Given the description of an element on the screen output the (x, y) to click on. 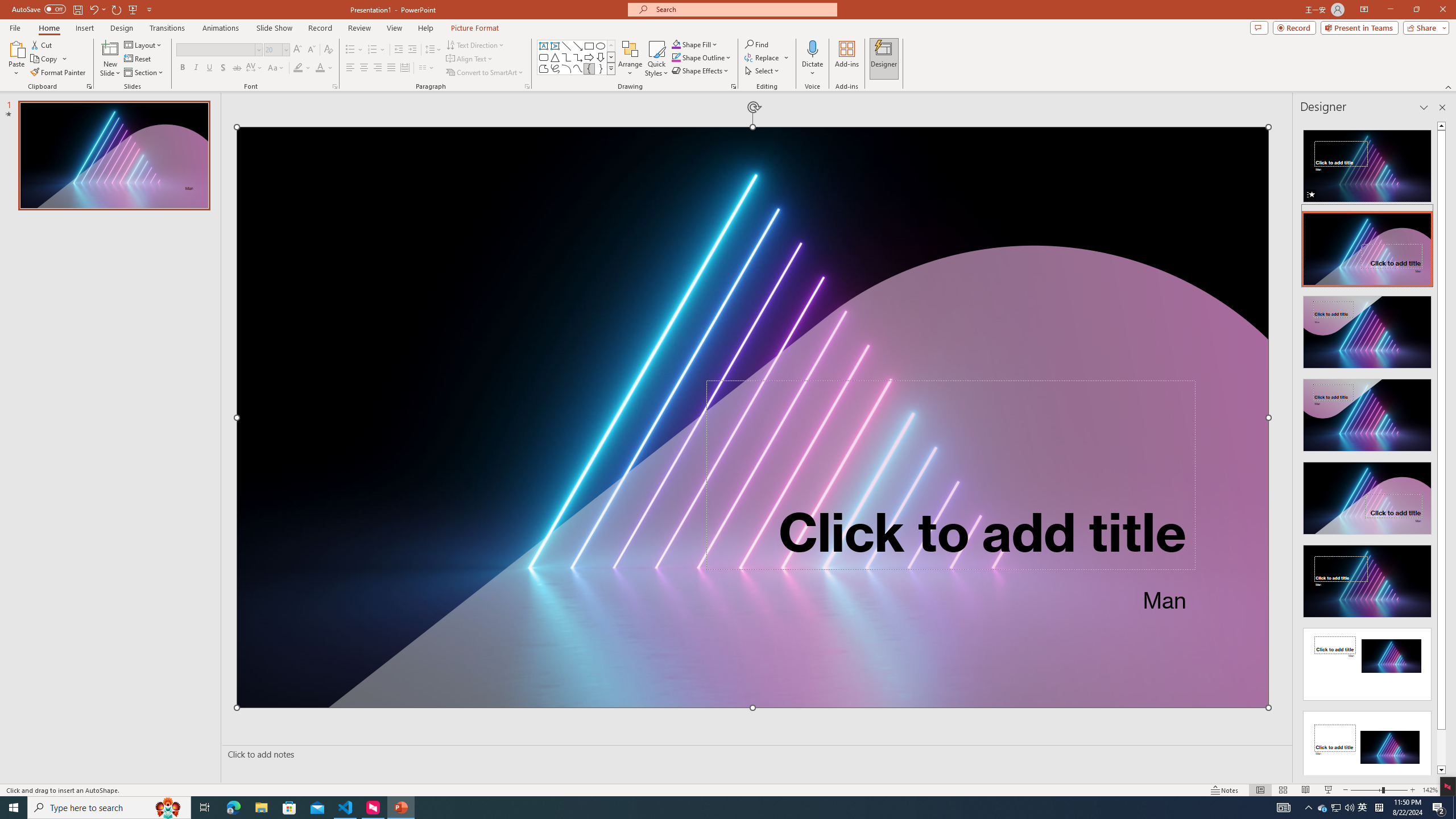
Design Idea with Animation (1366, 245)
